Given the description of an element on the screen output the (x, y) to click on. 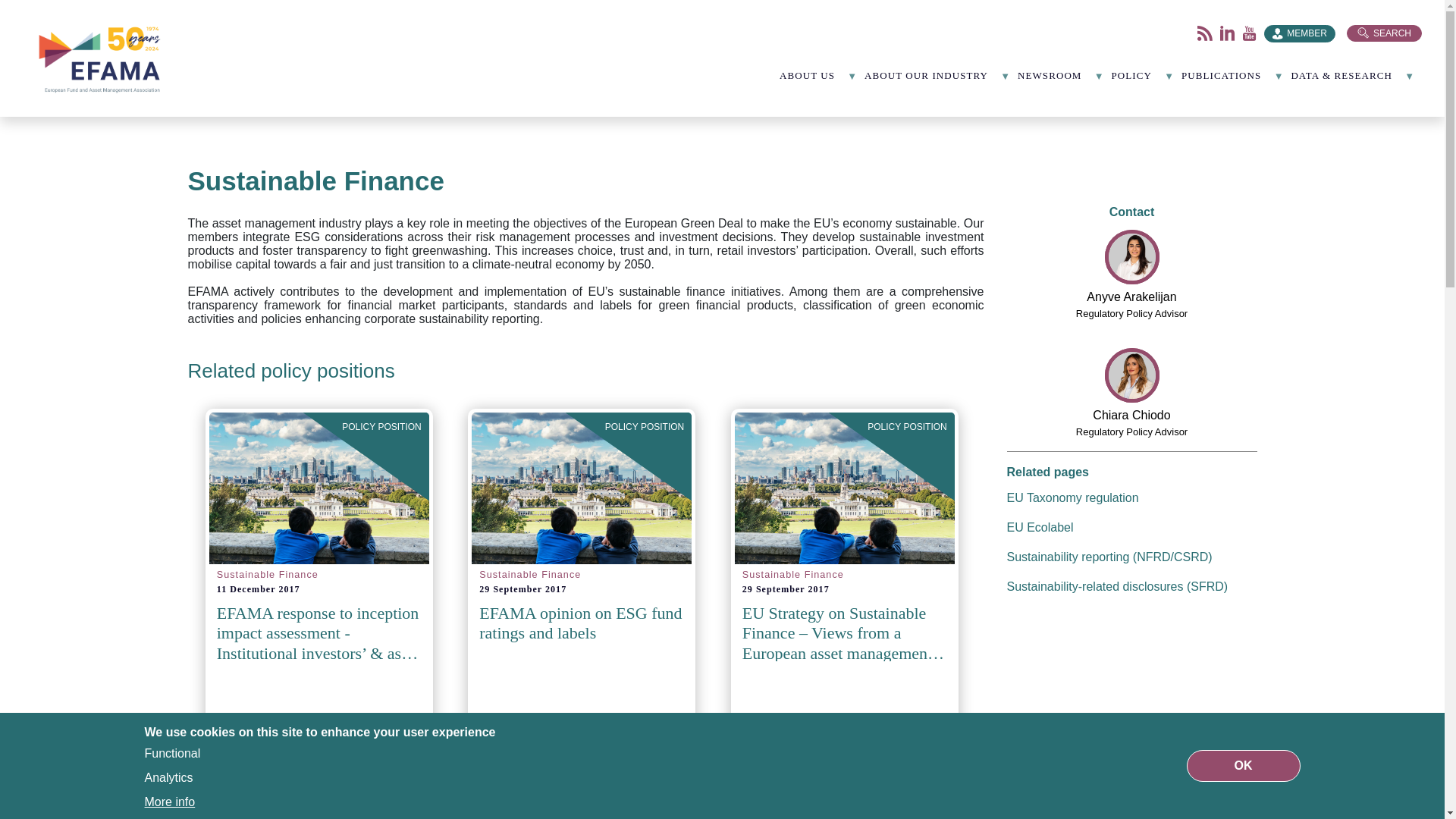
Youtube (1249, 32)
EFAMA (101, 57)
Flux rss (1204, 32)
LinkedIn (1227, 32)
apply (24, 15)
